Given the description of an element on the screen output the (x, y) to click on. 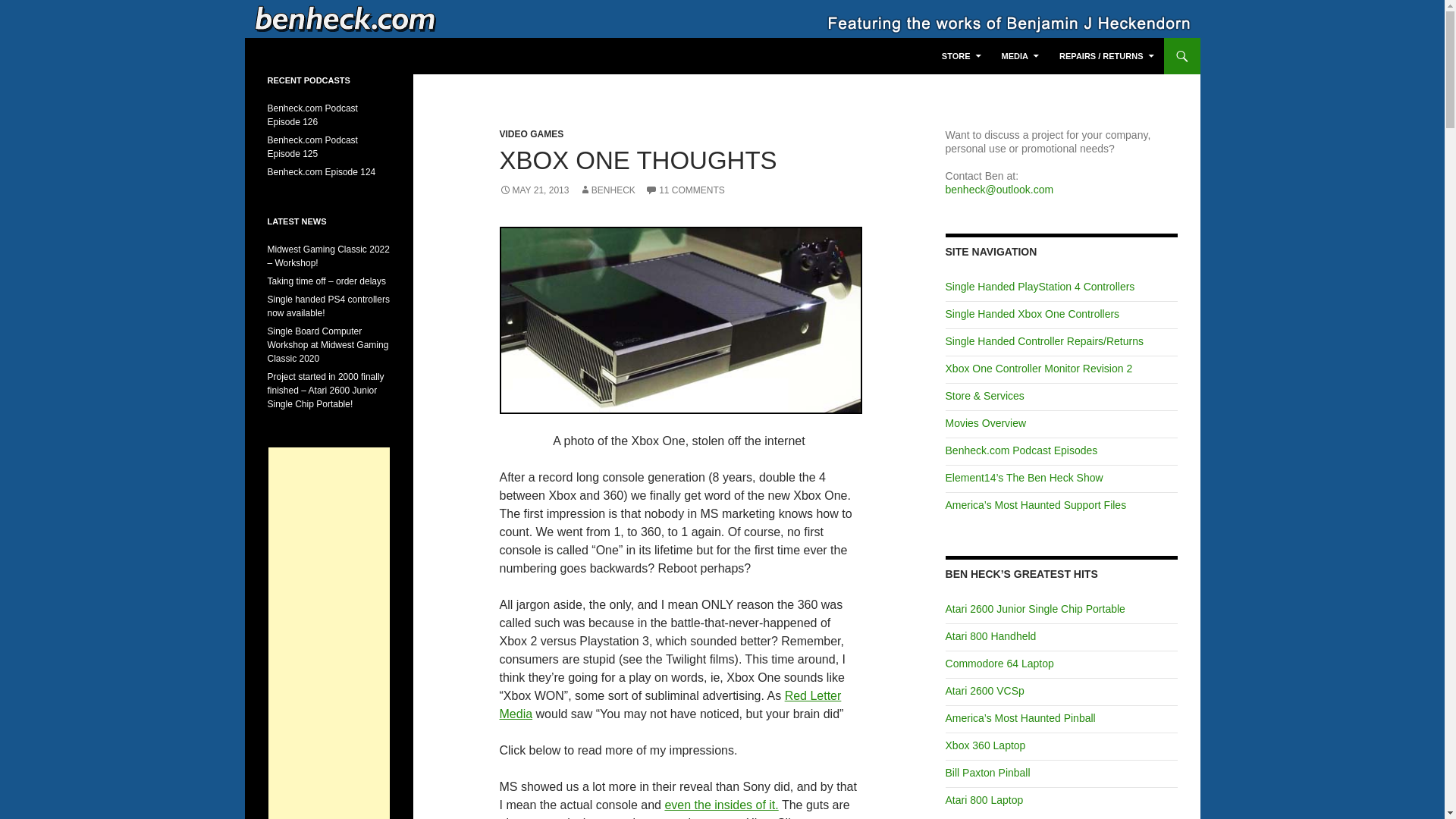
STORE (961, 55)
BENHECK (606, 190)
MEDIA (1020, 55)
MAY 21, 2013 (534, 190)
even the insides of it. (720, 804)
Red Letter Media (670, 704)
Web Portal for Benjamin J Heckendorn (392, 55)
11 COMMENTS (685, 190)
